Given the description of an element on the screen output the (x, y) to click on. 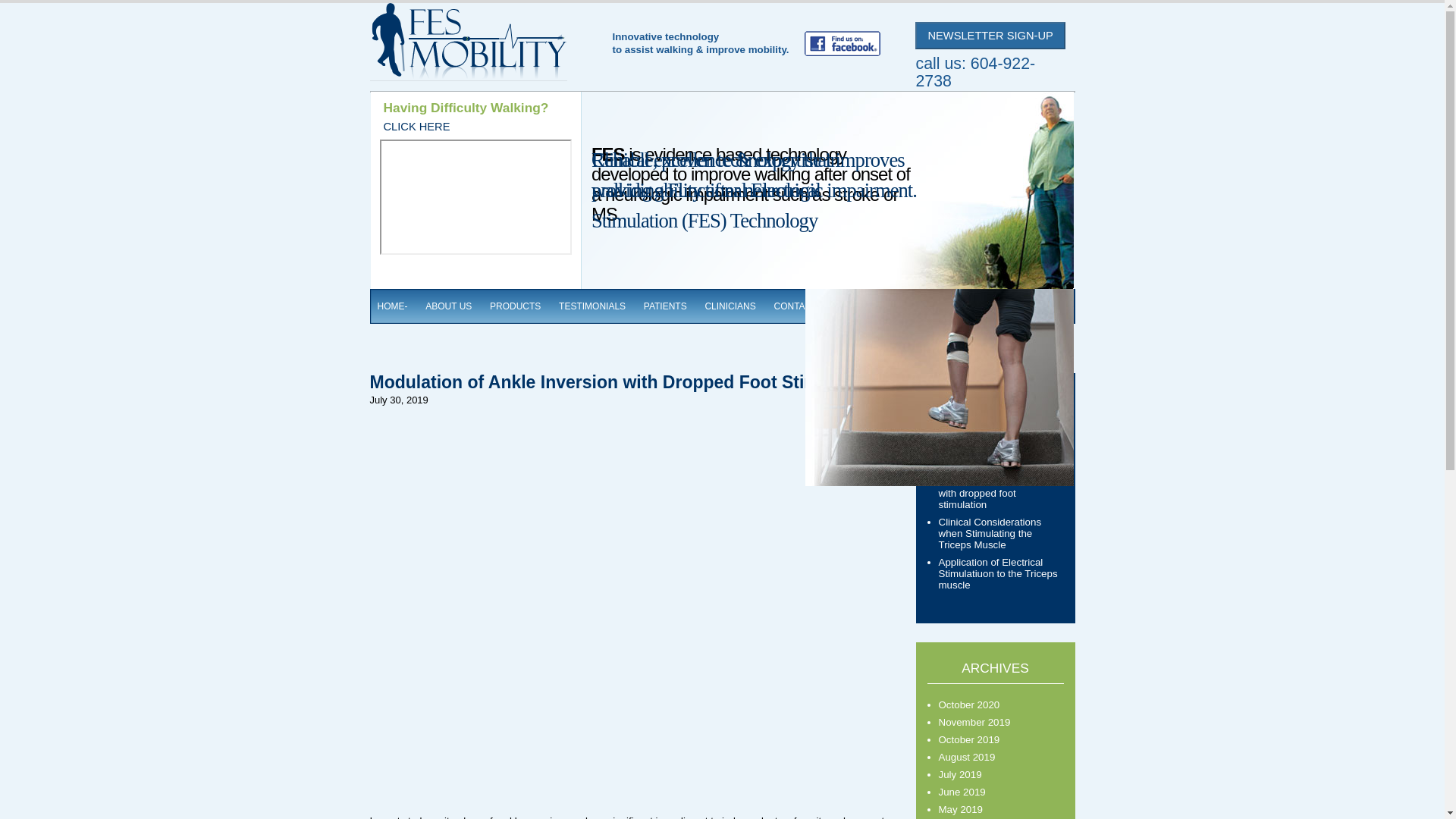
Walking after Stroke (984, 464)
Clinical Considerations when Stimulating the Triceps Muscle (990, 533)
November 2019 (974, 722)
July 2019 (960, 774)
August 2019 (967, 756)
PATIENTS (665, 306)
NEWSLETTER SIGN-UP (989, 35)
October 2020 (969, 704)
ABOUT US (448, 306)
TESTIMONIALS (592, 306)
CLICK HERE (416, 126)
Ankle eversion correction with dropped foot stimulation (995, 492)
Visit the StimBits blog, ask a question (1010, 306)
CLINICIANS (729, 306)
CONTACT US (802, 306)
